Given the description of an element on the screen output the (x, y) to click on. 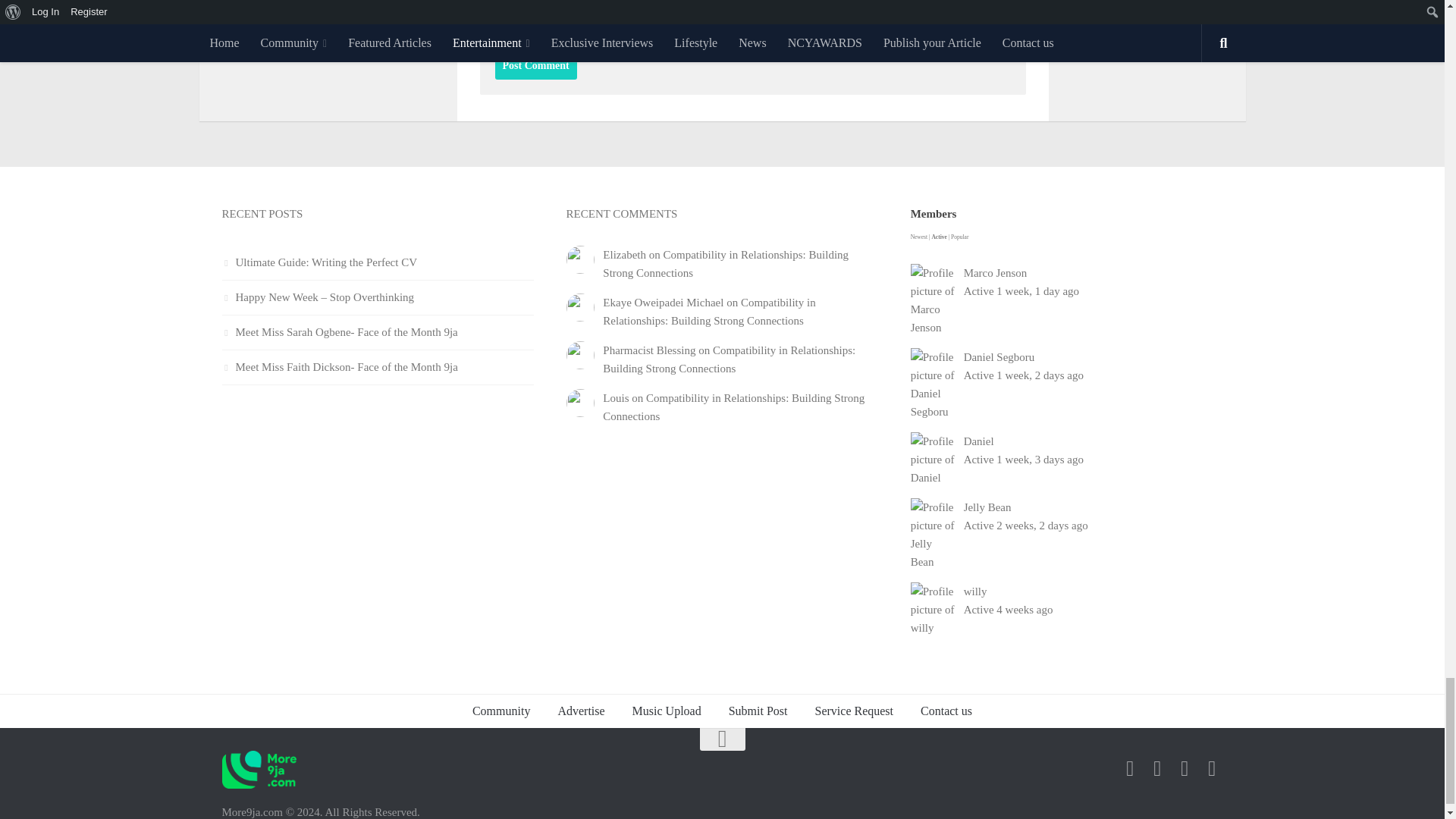
yes (501, 26)
Post Comment (535, 65)
